Given the description of an element on the screen output the (x, y) to click on. 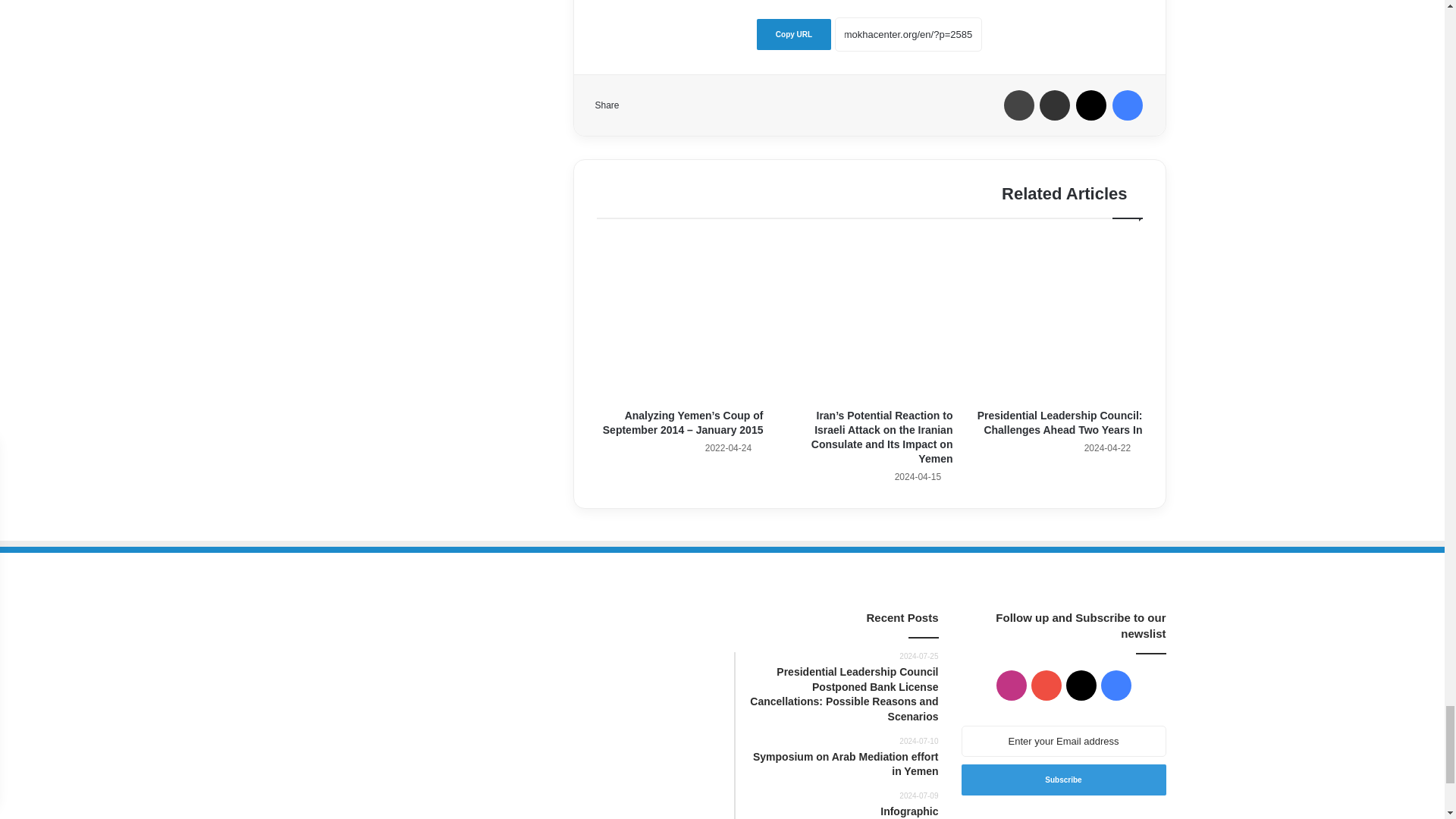
Print (1018, 105)
Subscribe (1063, 779)
Facebook (1126, 105)
Share via Email (1054, 105)
Facebook (1126, 105)
Copy URL (794, 33)
X (1090, 105)
